Given the description of an element on the screen output the (x, y) to click on. 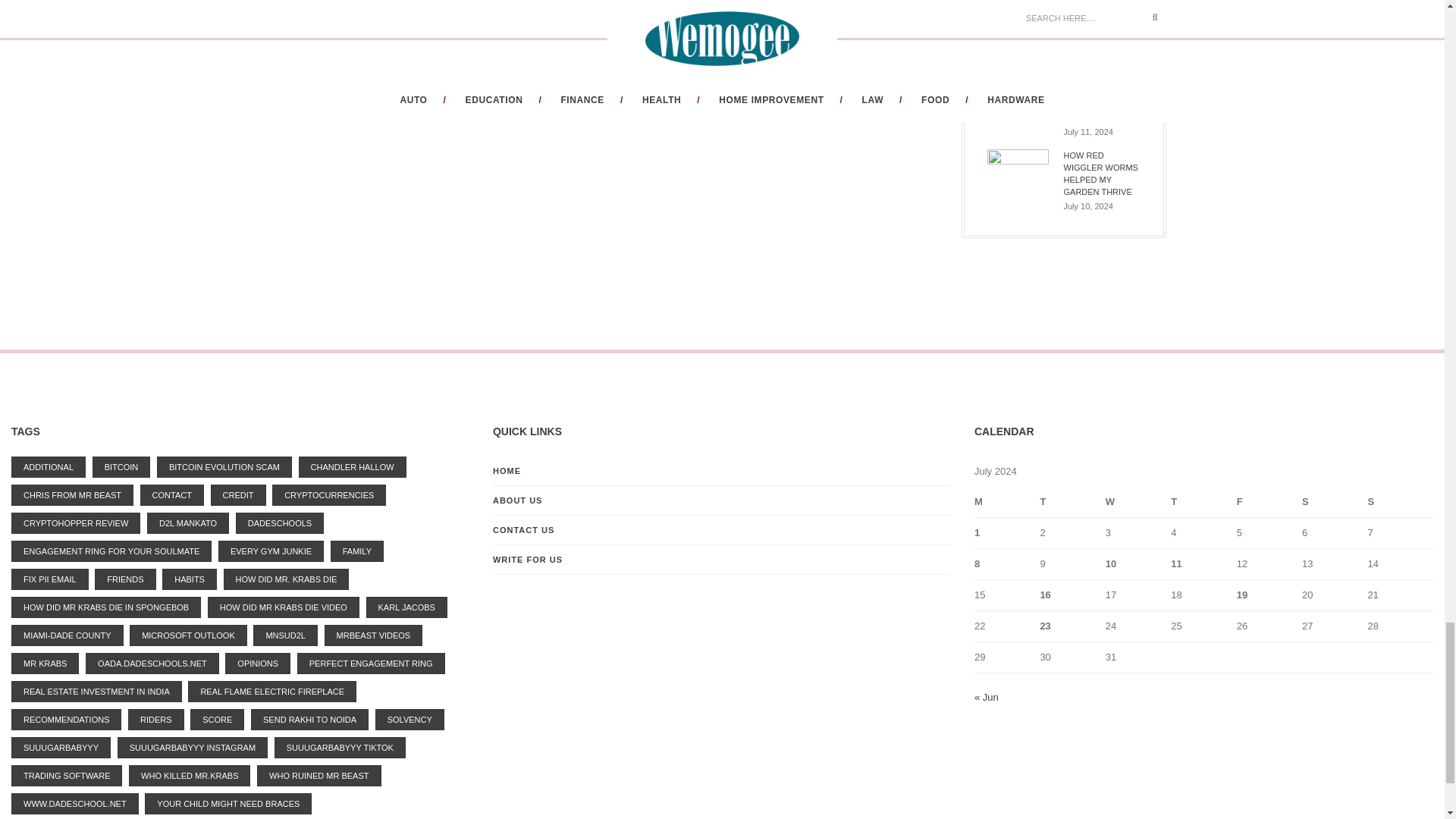
Wednesday (1137, 501)
Tuesday (1072, 501)
Sunday (1400, 501)
Friday (1268, 501)
Saturday (1334, 501)
Thursday (1203, 501)
Monday (1006, 501)
